Given the description of an element on the screen output the (x, y) to click on. 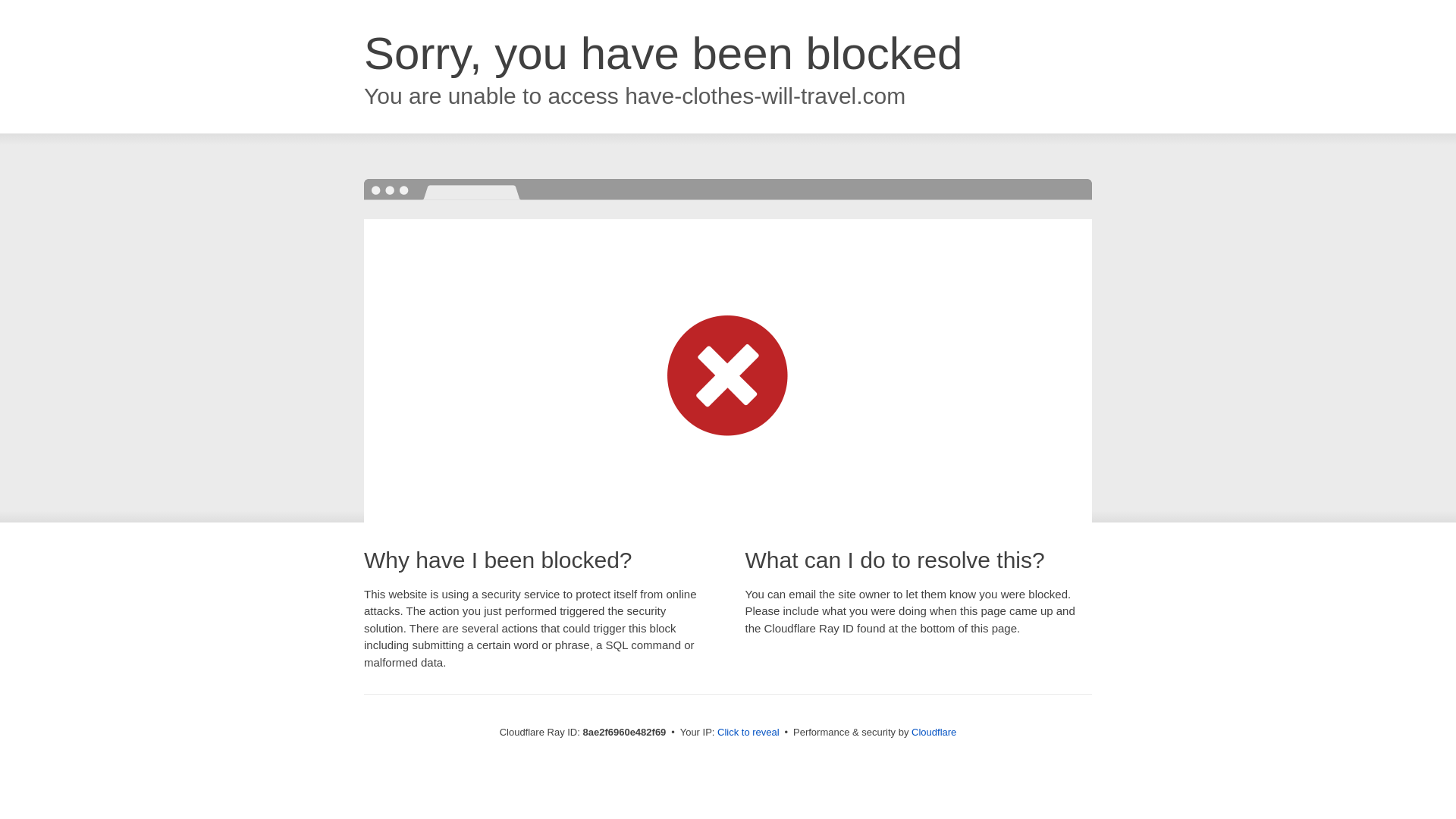
Click to reveal (747, 732)
Cloudflare (933, 731)
